Given the description of an element on the screen output the (x, y) to click on. 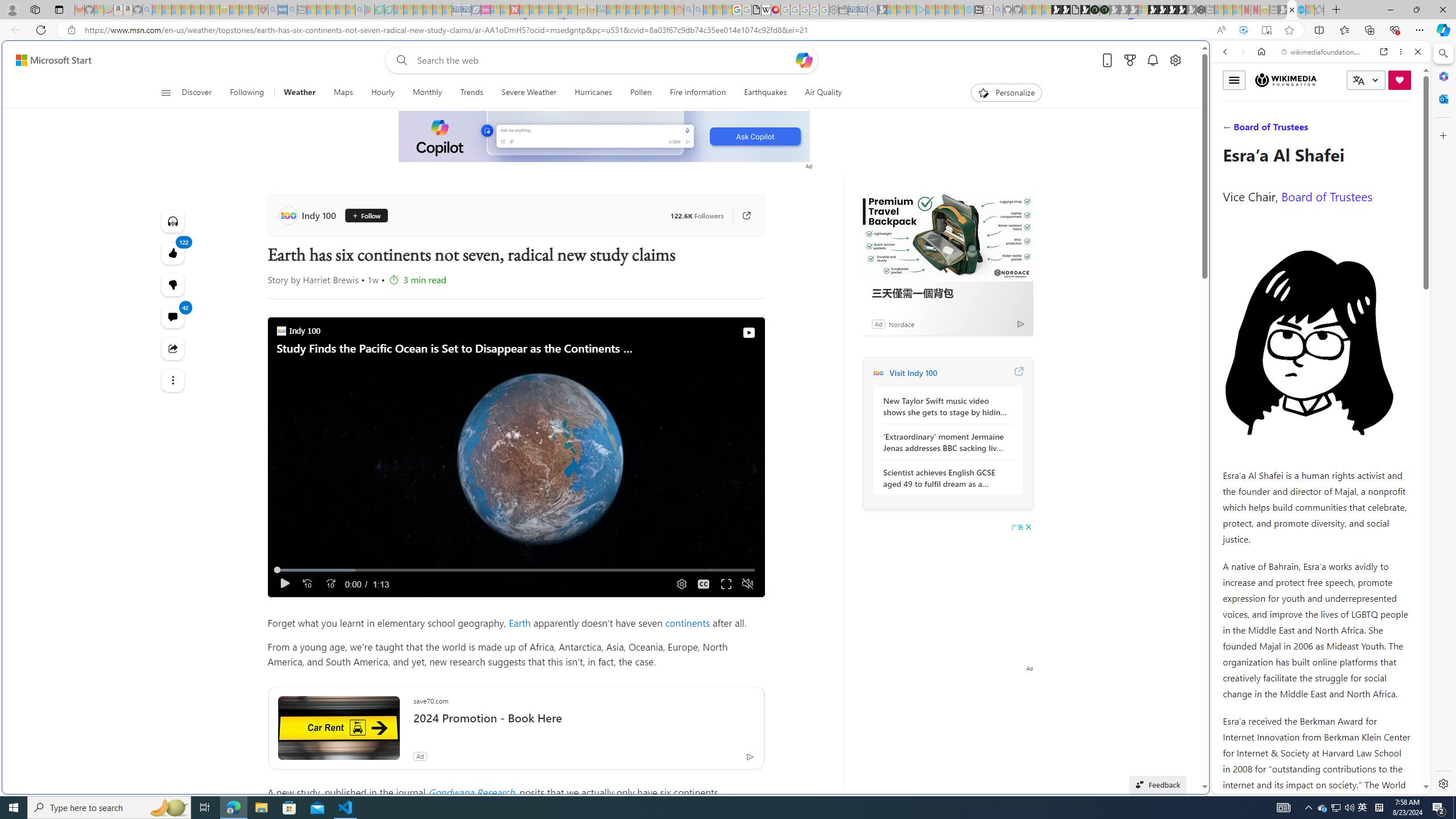
Close split screen (1208, 57)
Maps (343, 92)
utah sues federal government - Search (922, 389)
Monthly (427, 92)
